Given the description of an element on the screen output the (x, y) to click on. 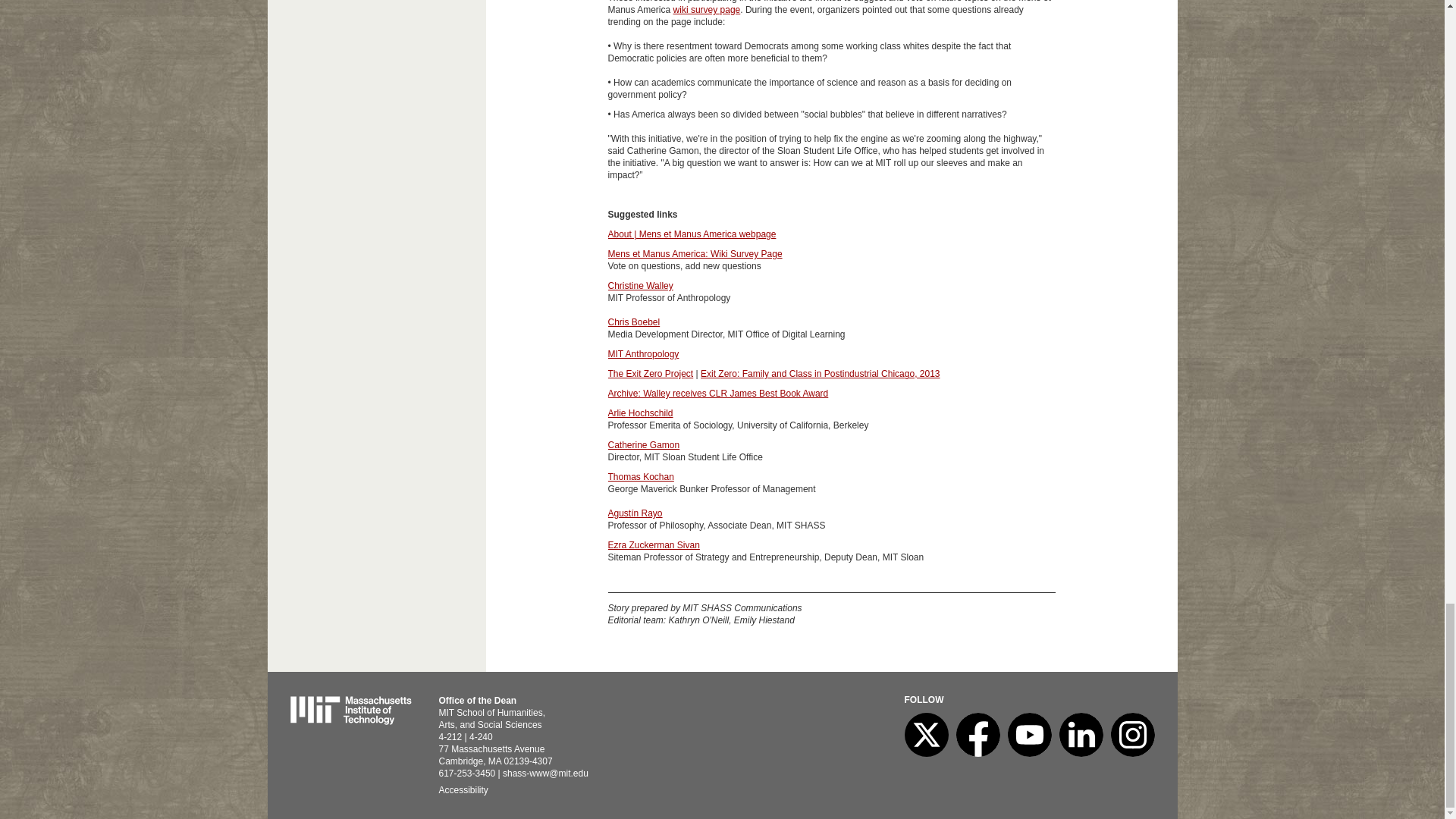
Visit us on Instagram (1131, 754)
Visit us on LinkedIn (1080, 754)
Visit us on YouTube (1029, 754)
MIT home (349, 721)
Visit us on Facebook (976, 754)
Visit us on X (925, 754)
